Given the description of an element on the screen output the (x, y) to click on. 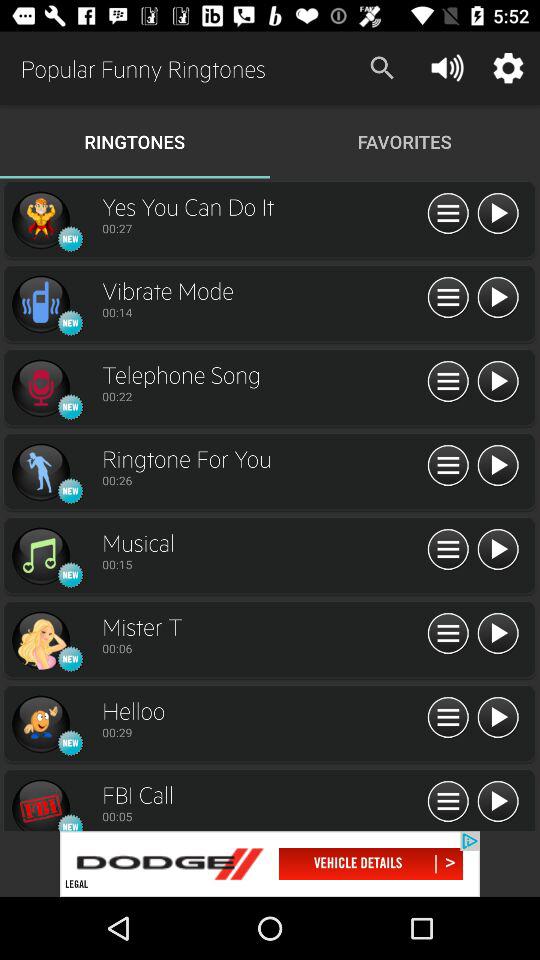
play ringtone (497, 297)
